Given the description of an element on the screen output the (x, y) to click on. 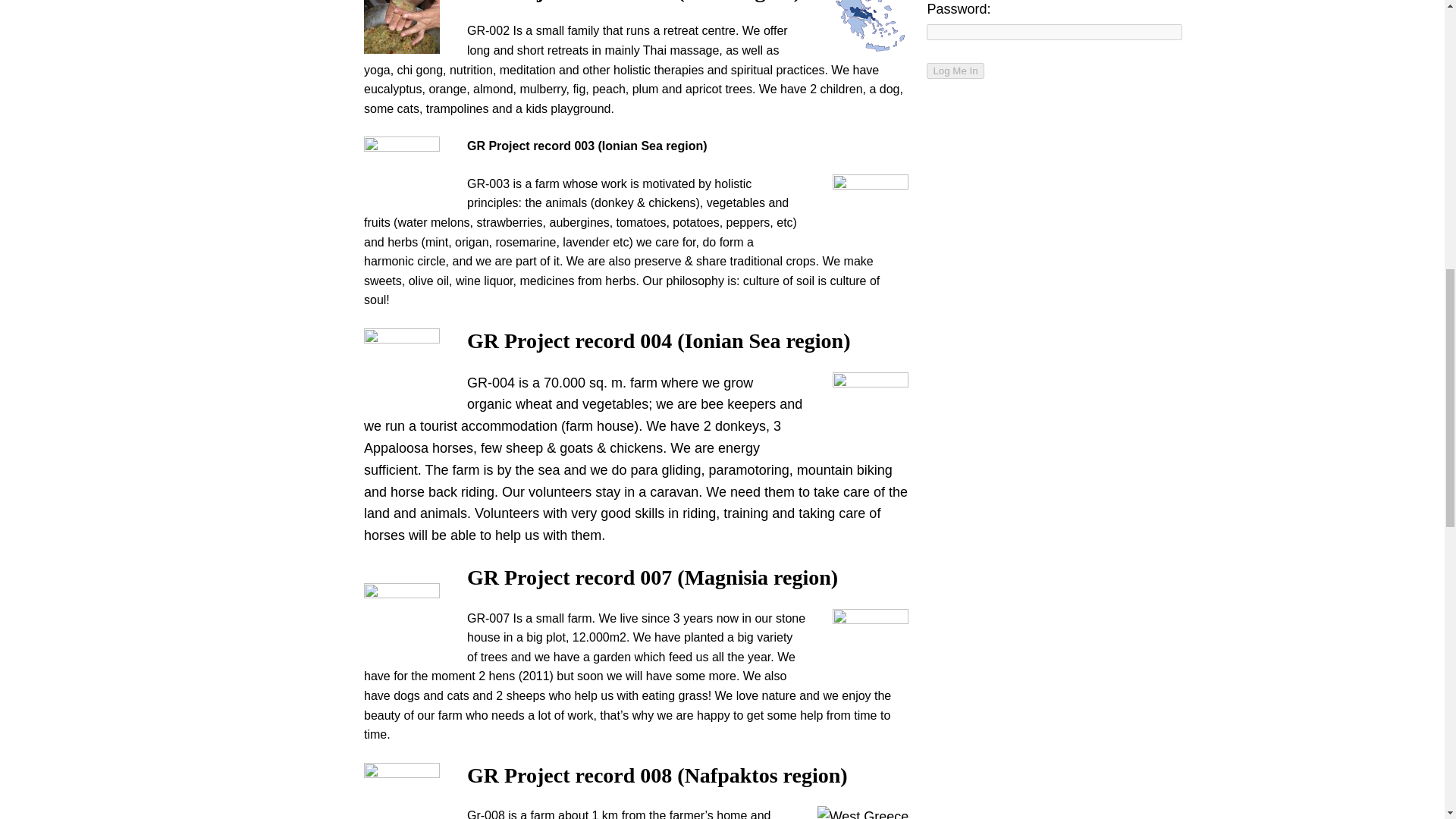
Log Me In (955, 70)
Log Me In (955, 70)
